Given the description of an element on the screen output the (x, y) to click on. 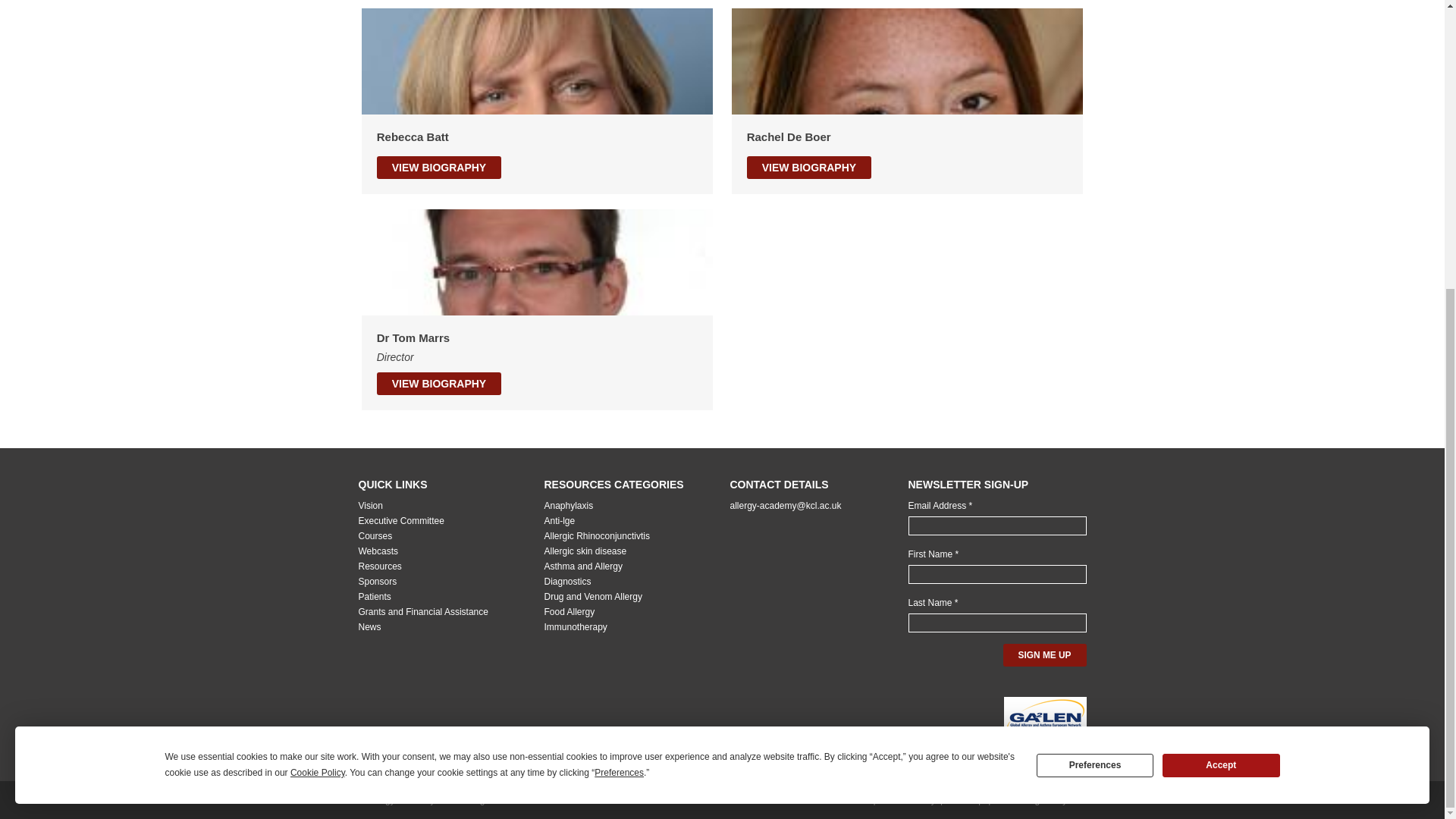
VIEW BIOGRAPHY (438, 167)
Preferences (1094, 327)
Accept (1220, 327)
VIEW BIOGRAPHY (438, 383)
Sign me up (1044, 654)
Executive Committee (401, 520)
Vision (369, 505)
VIEW BIOGRAPHY (808, 167)
Webcasts (377, 551)
Courses (374, 535)
